Given the description of an element on the screen output the (x, y) to click on. 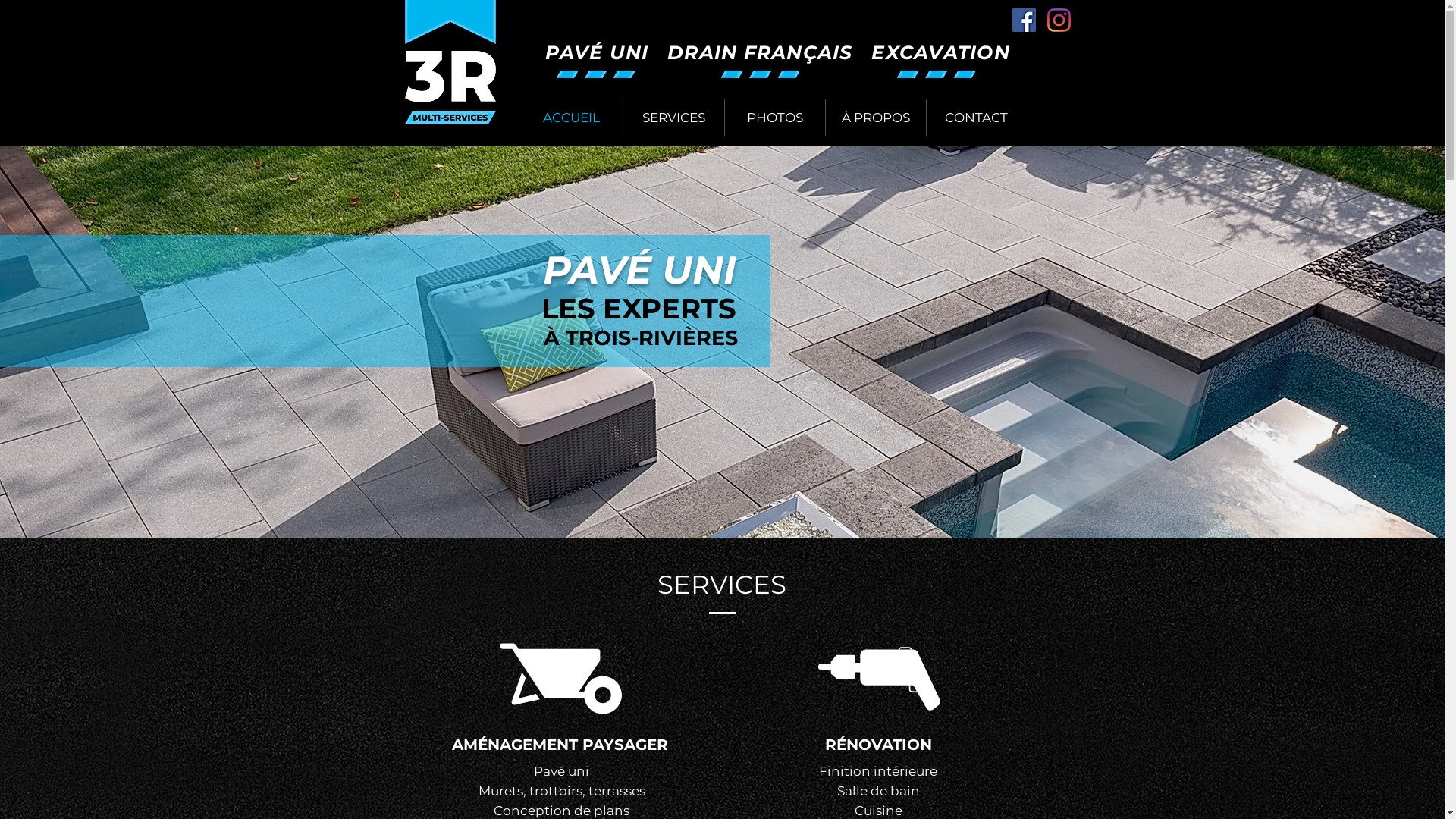
elements1.jpg Element type: hover (759, 74)
PHOTOS Element type: text (774, 117)
SERVICES Element type: text (673, 117)
CONTACT Element type: text (976, 117)
logo.jpg Element type: hover (449, 71)
ACCUEIL Element type: text (570, 117)
elements1.jpg Element type: hover (935, 74)
elements1.jpg Element type: hover (595, 74)
   EXCAVATION Element type: text (930, 51)
